Given the description of an element on the screen output the (x, y) to click on. 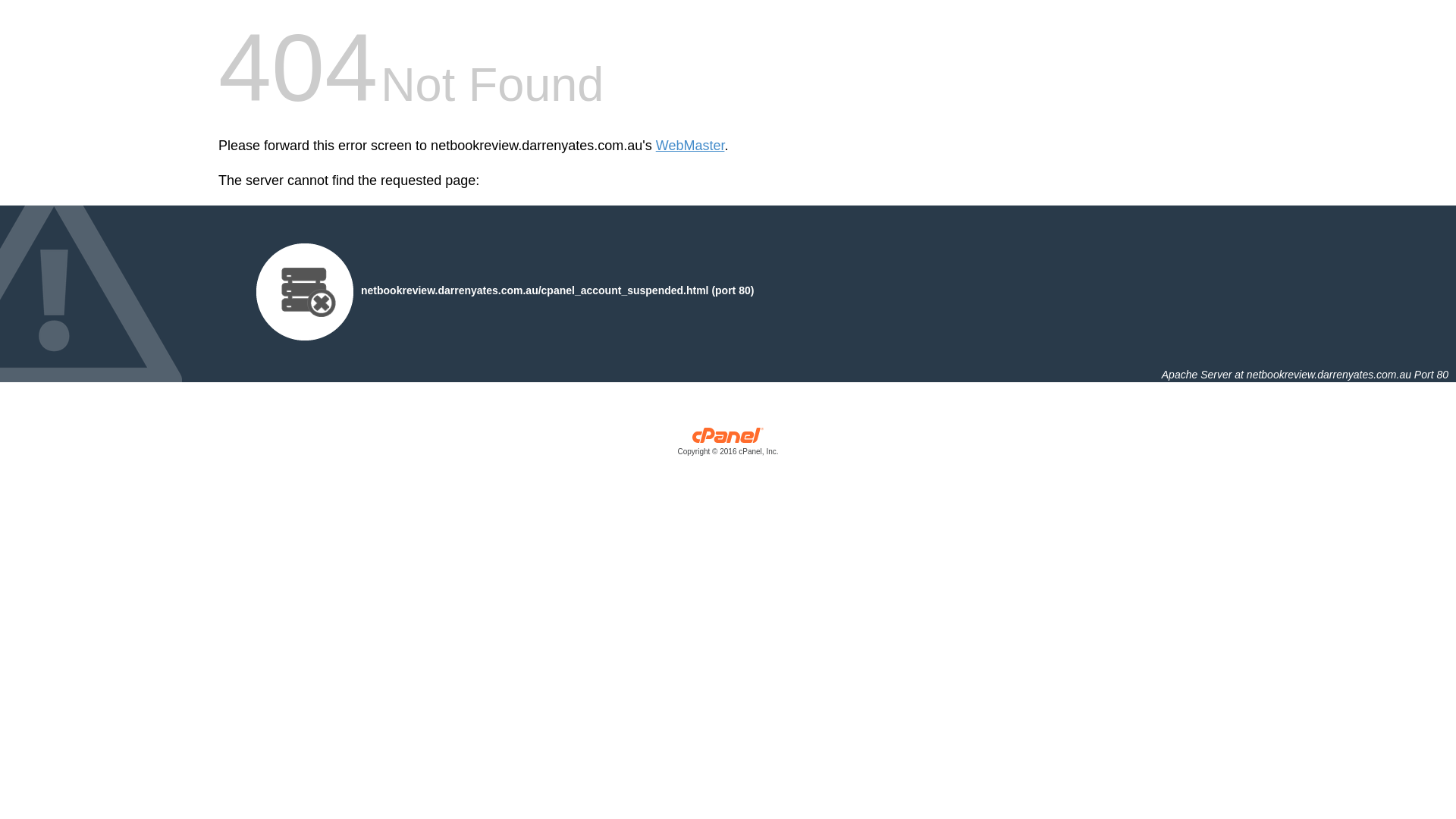
WebMaster Element type: text (689, 145)
